Given the description of an element on the screen output the (x, y) to click on. 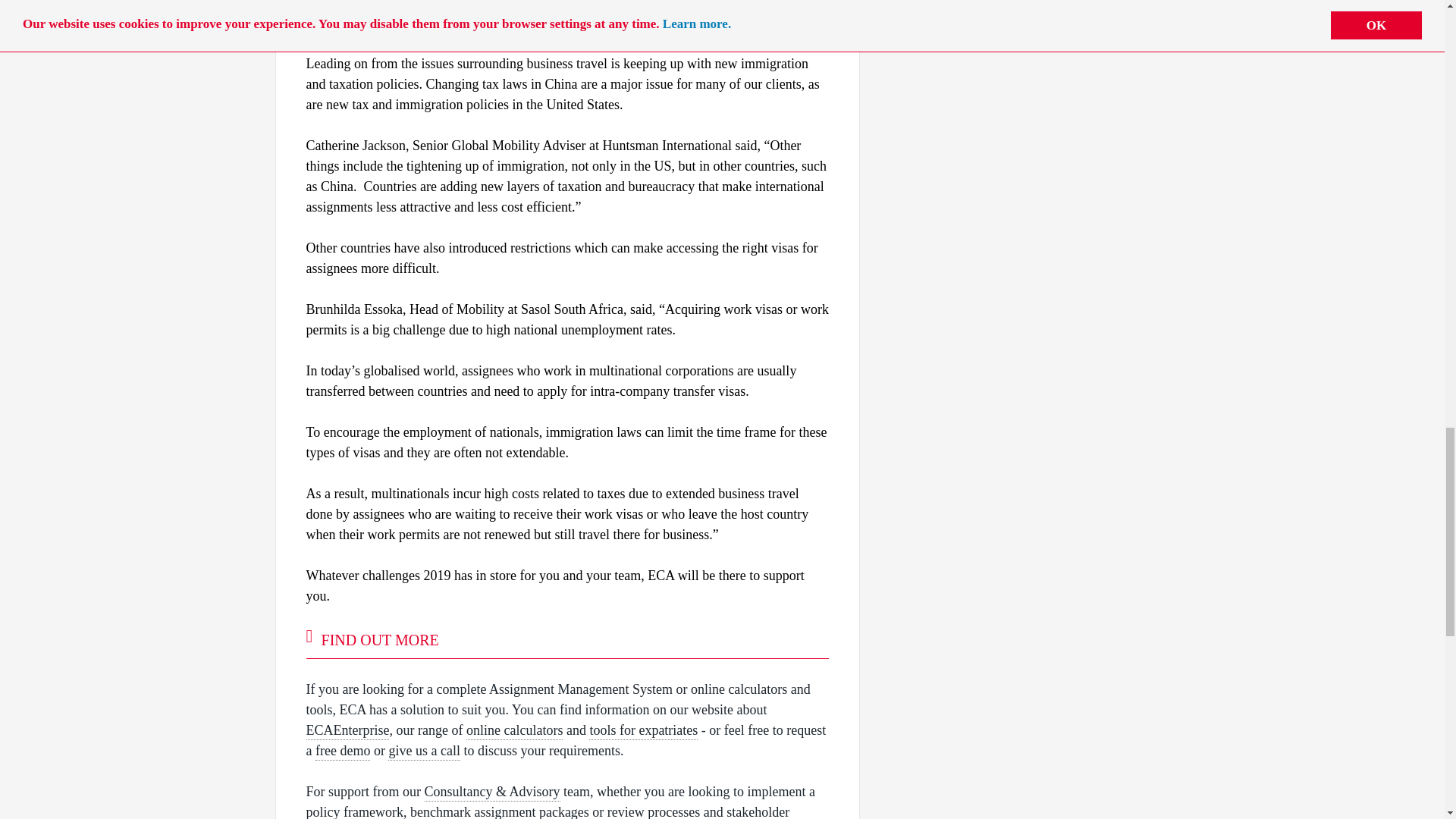
tools for expatriates (643, 731)
ECAEnterprise (347, 731)
free demo (342, 751)
online calculators (513, 731)
give us a call (424, 751)
